Given the description of an element on the screen output the (x, y) to click on. 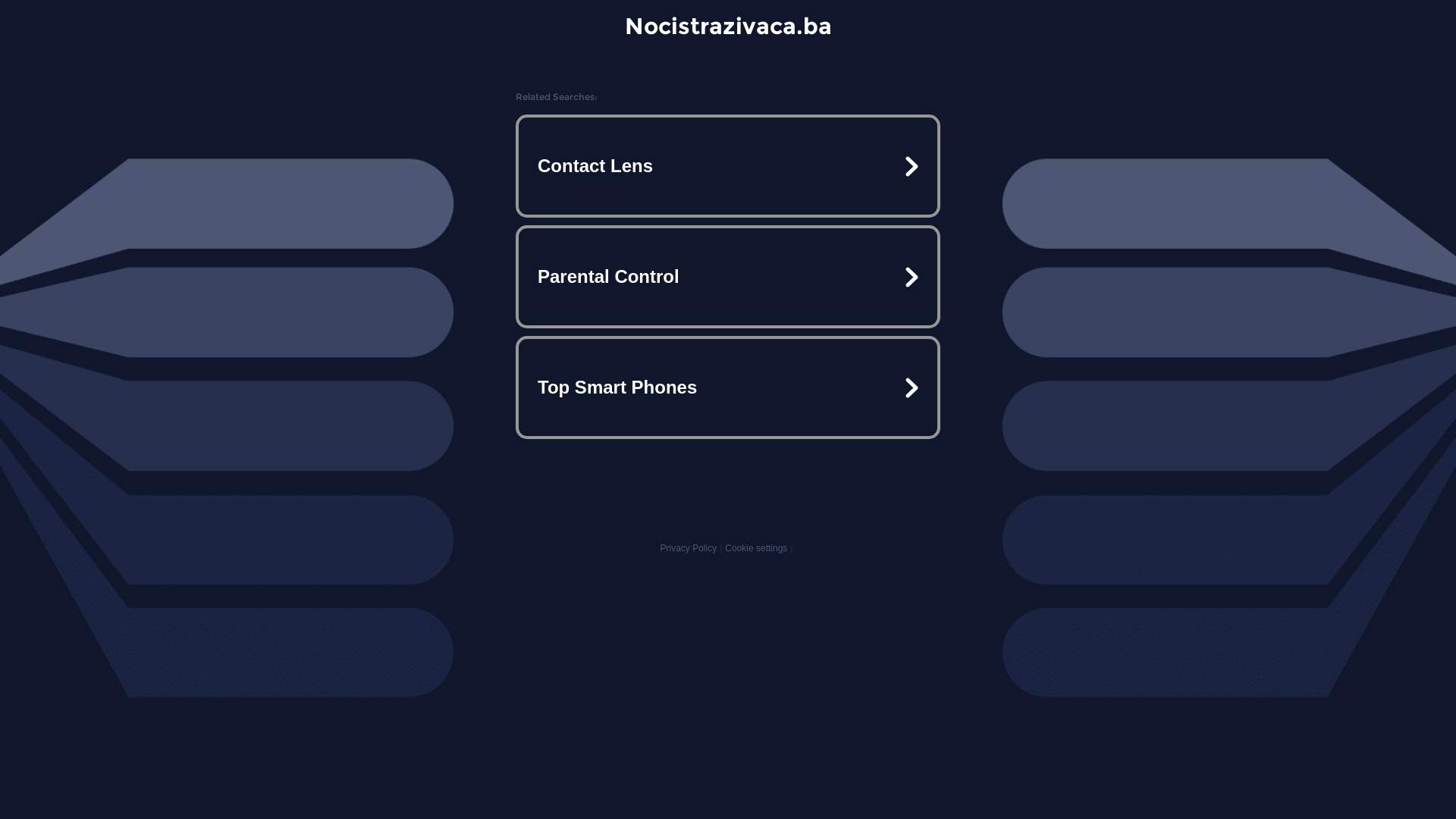
Nocistrazivaca.ba Element type: text (727, 26)
Cookie settings Element type: text (755, 547)
Privacy Policy Element type: text (687, 547)
Contact Lens Element type: text (727, 165)
Parental Control Element type: text (727, 276)
Top Smart Phones Element type: text (727, 387)
